Given the description of an element on the screen output the (x, y) to click on. 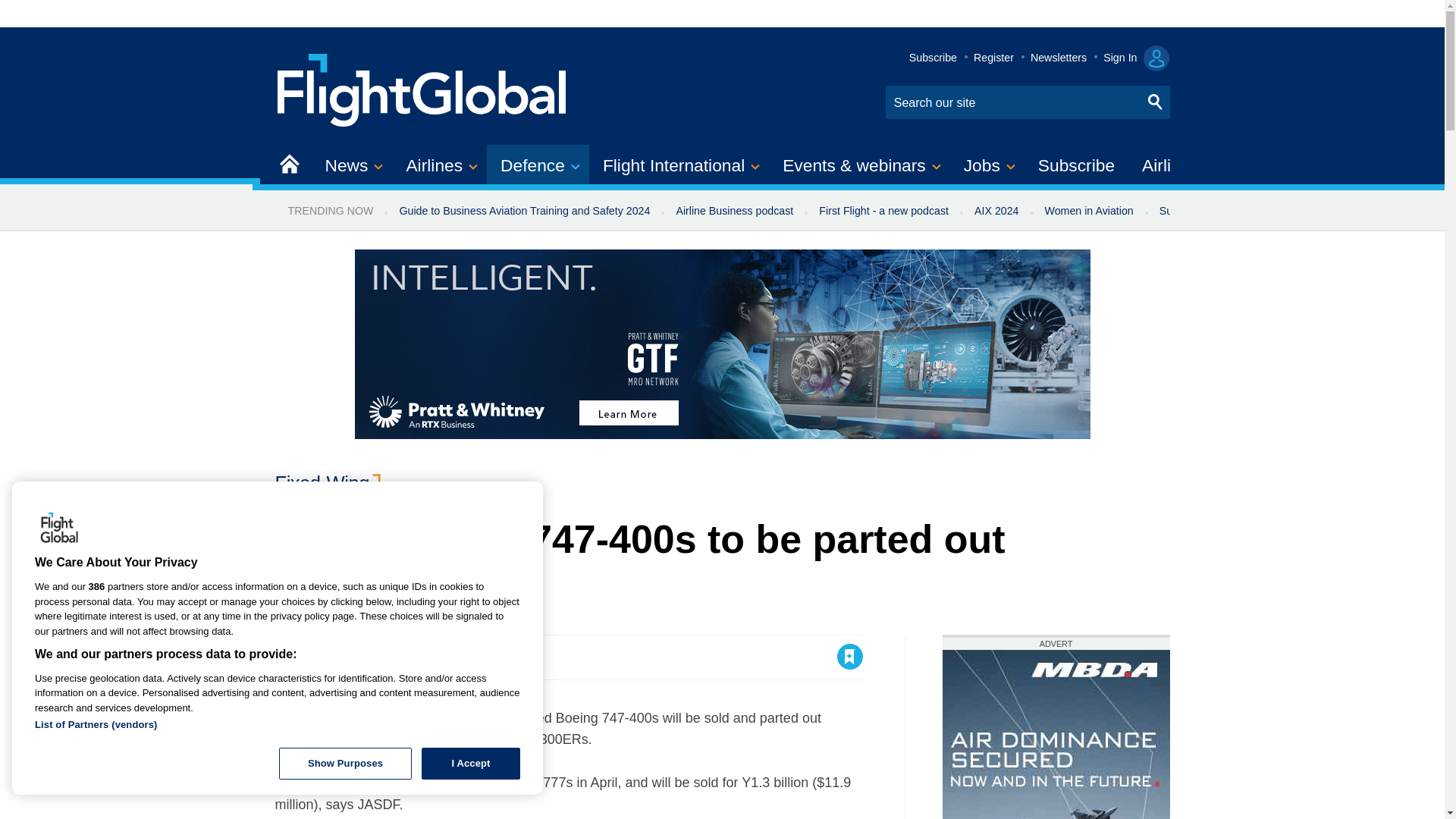
Guide to Business Aviation Training and Safety 2024 (523, 210)
Women in Aviation (1089, 210)
Email this article (386, 656)
Site name (422, 88)
AIX 2024 (996, 210)
Share this on Twitter (320, 656)
Flight Global Logo (58, 528)
First Flight - a new podcast (883, 210)
3rd party ad content (1055, 734)
Airline Business podcast (734, 210)
Sustainable Aviation newsletter (1234, 210)
Share this on Linked in (352, 656)
